Given the description of an element on the screen output the (x, y) to click on. 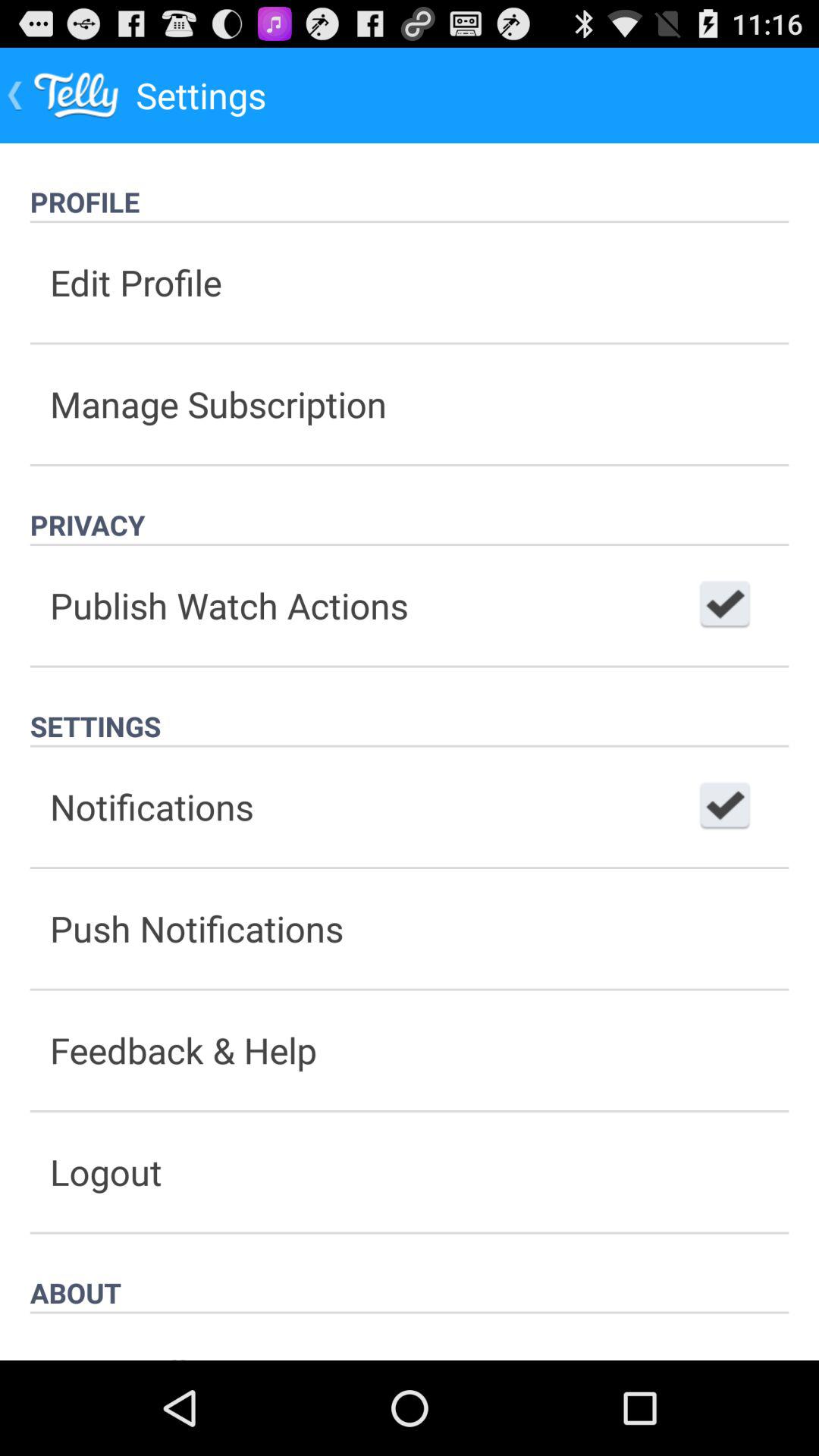
jump to rate telly item (409, 1336)
